Given the description of an element on the screen output the (x, y) to click on. 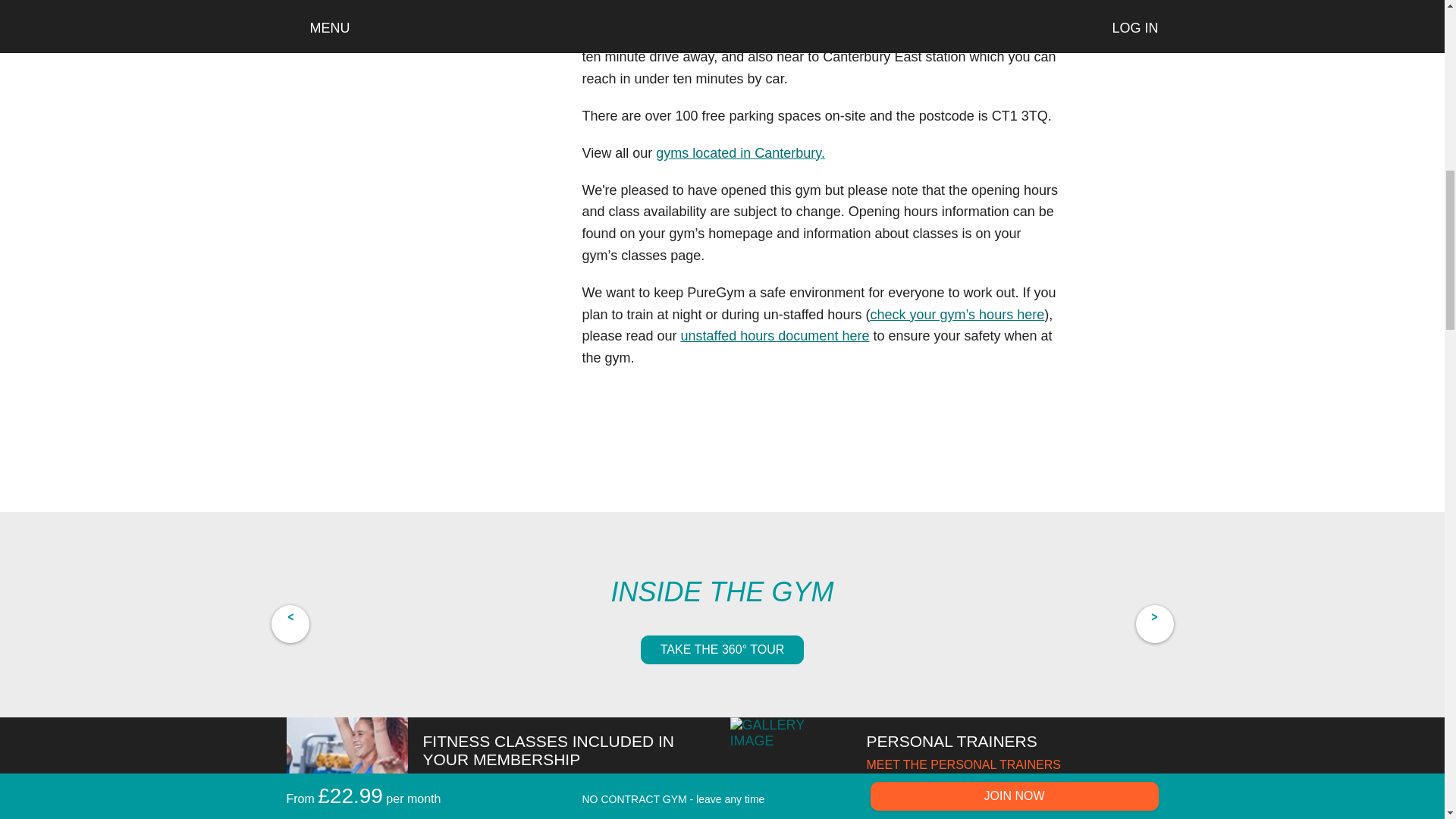
Unstaffed Hours (775, 335)
Gyms in Canterbury (740, 152)
Unstaffed Hours (956, 314)
